Given the description of an element on the screen output the (x, y) to click on. 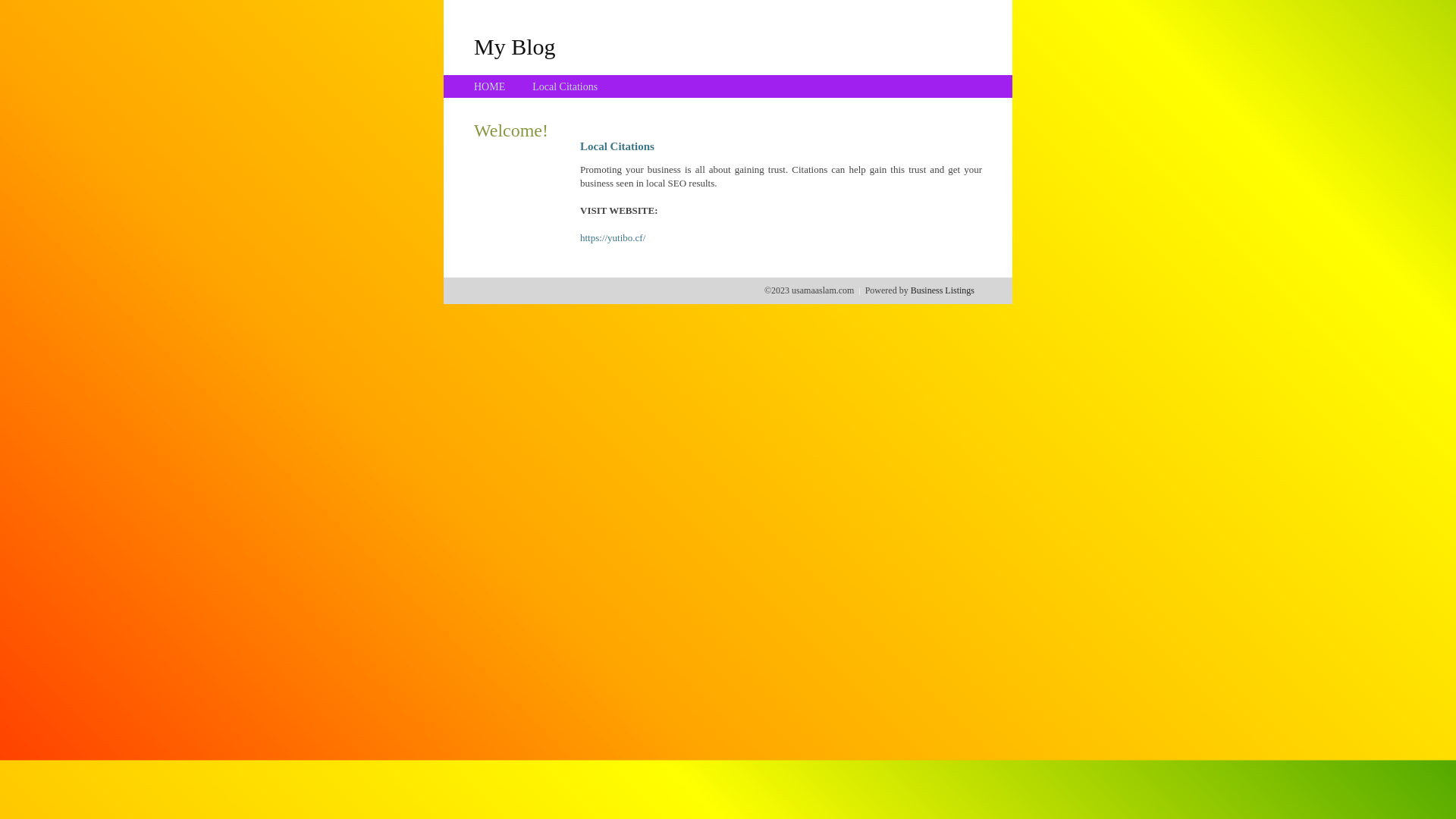
Business Listings Element type: text (942, 290)
My Blog Element type: text (514, 46)
Local Citations Element type: text (564, 86)
HOME Element type: text (489, 86)
https://yutibo.cf/ Element type: text (612, 237)
